Given the description of an element on the screen output the (x, y) to click on. 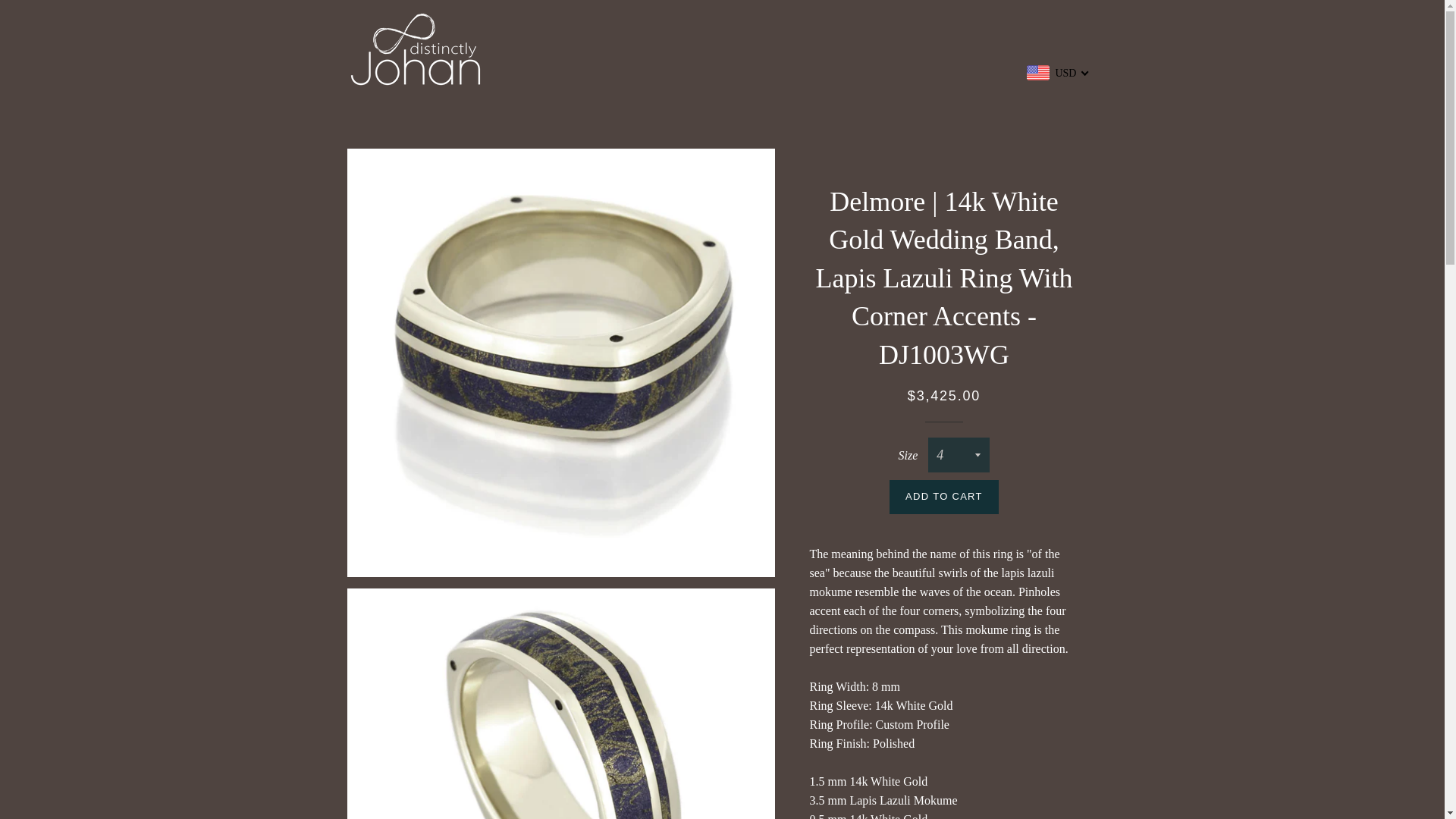
ADD TO CART (943, 496)
